Given the description of an element on the screen output the (x, y) to click on. 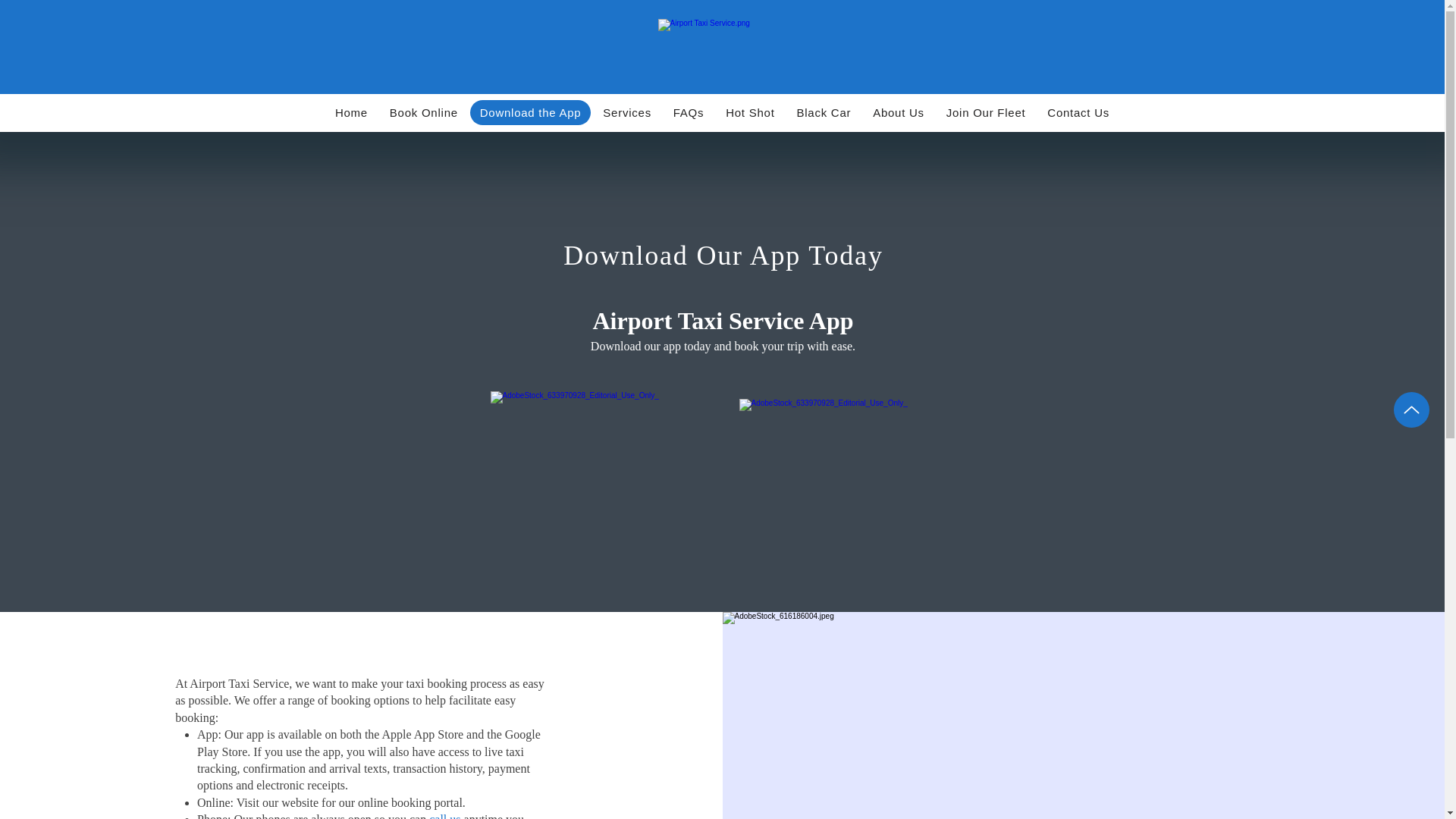
Download the App (530, 112)
FAQs (688, 112)
About Us (898, 112)
Book Online (423, 112)
Hot Shot (750, 112)
call us (444, 816)
Contact Us (1078, 112)
Services (627, 112)
Black Car (823, 112)
Home (351, 112)
